Given the description of an element on the screen output the (x, y) to click on. 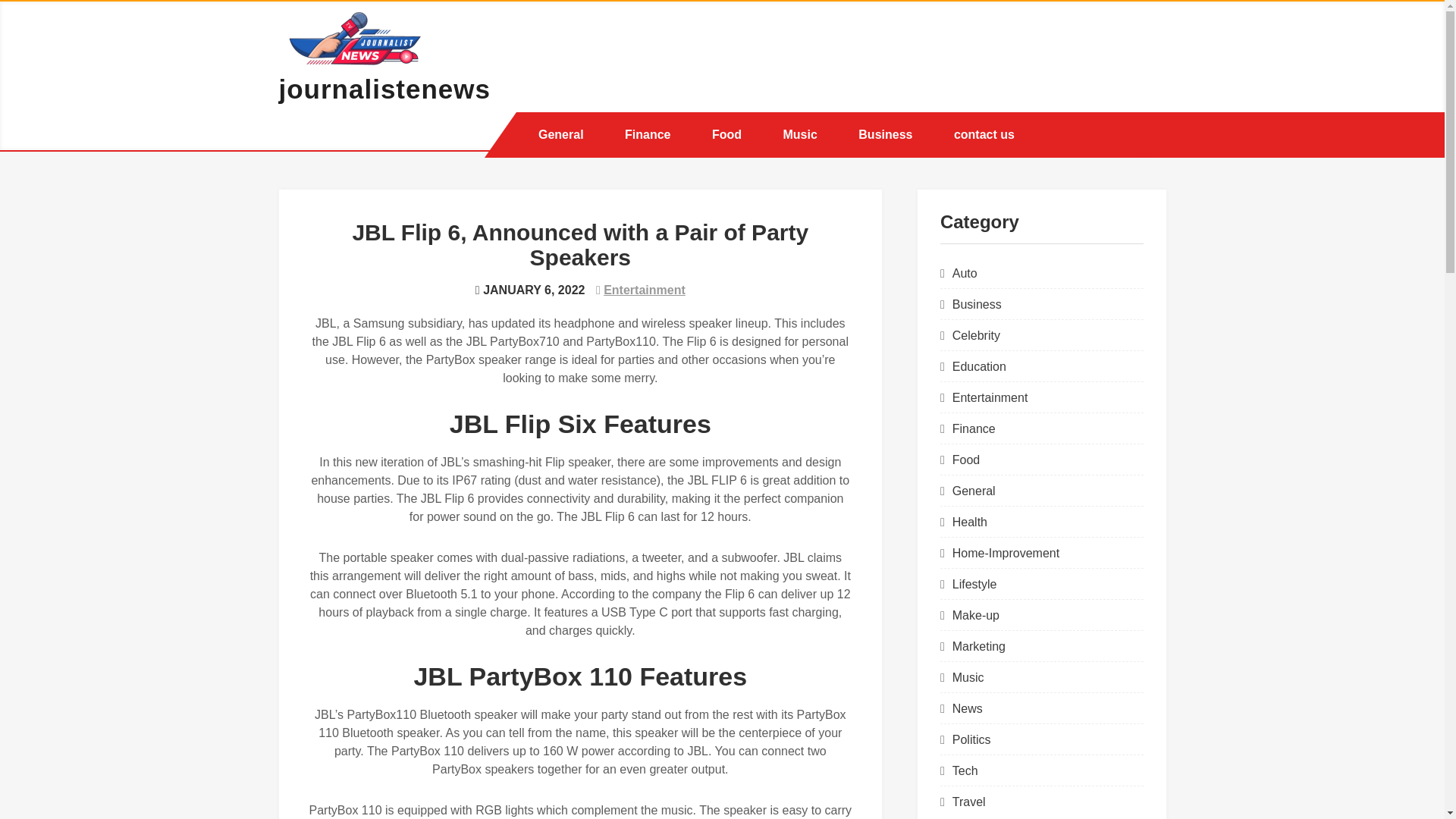
Music (799, 135)
Home-Improvement (1005, 553)
Education (979, 366)
Lifestyle (974, 584)
Food (726, 135)
Marketing (979, 645)
Food (965, 459)
General (560, 135)
Celebrity (976, 335)
contact us (983, 135)
Finance (973, 428)
News (967, 707)
Music (968, 676)
Auto (964, 273)
Business (976, 304)
